Given the description of an element on the screen output the (x, y) to click on. 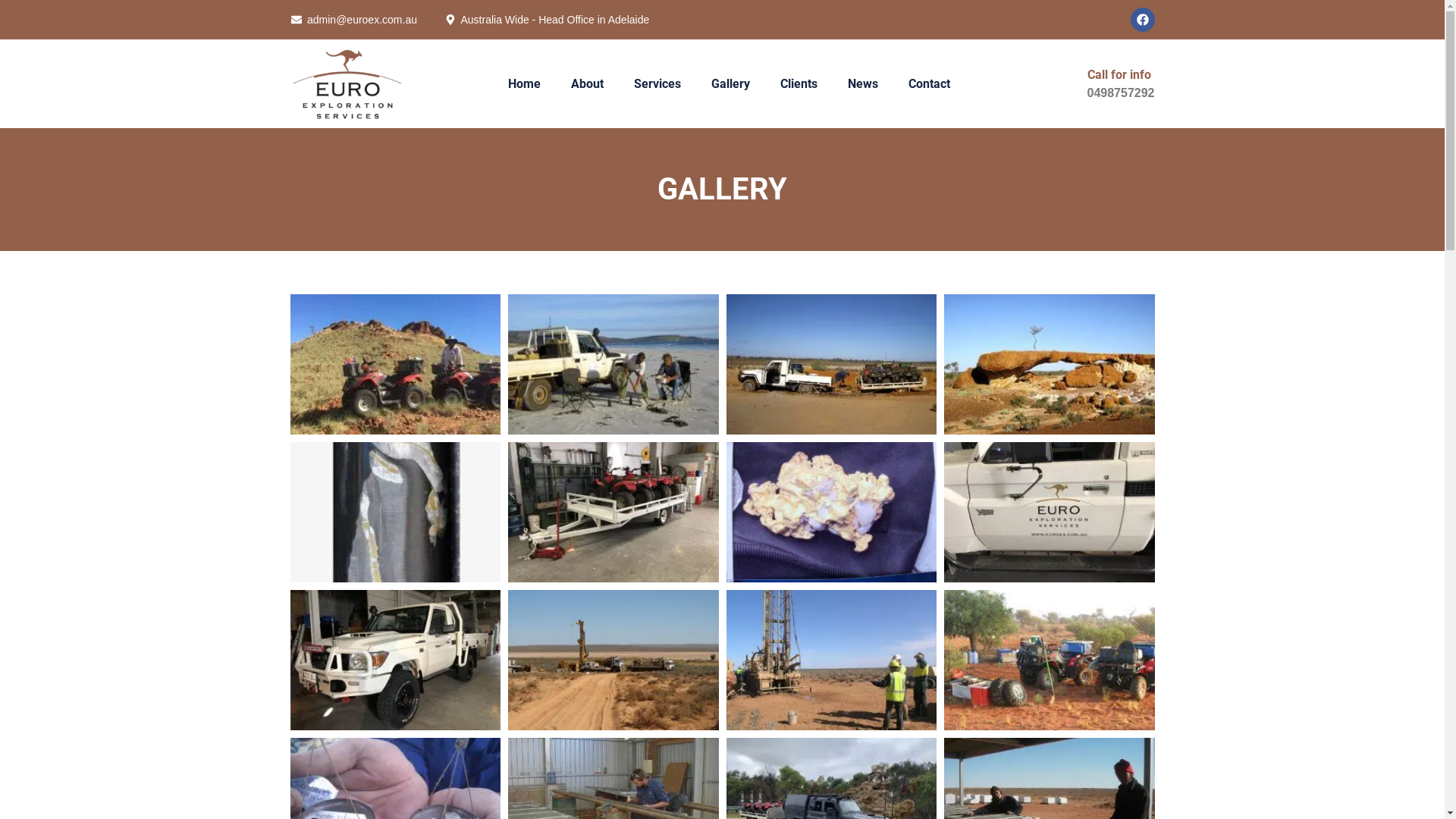
admin@euroex.com.au Element type: text (352, 20)
Home Element type: text (523, 83)
Services Element type: text (657, 83)
Gallery Element type: text (730, 83)
Australia Wide - Head Office in Adelaide Element type: text (546, 20)
News Element type: text (862, 83)
Clients Element type: text (798, 83)
Contact Element type: text (929, 83)
About Element type: text (586, 83)
